Given the description of an element on the screen output the (x, y) to click on. 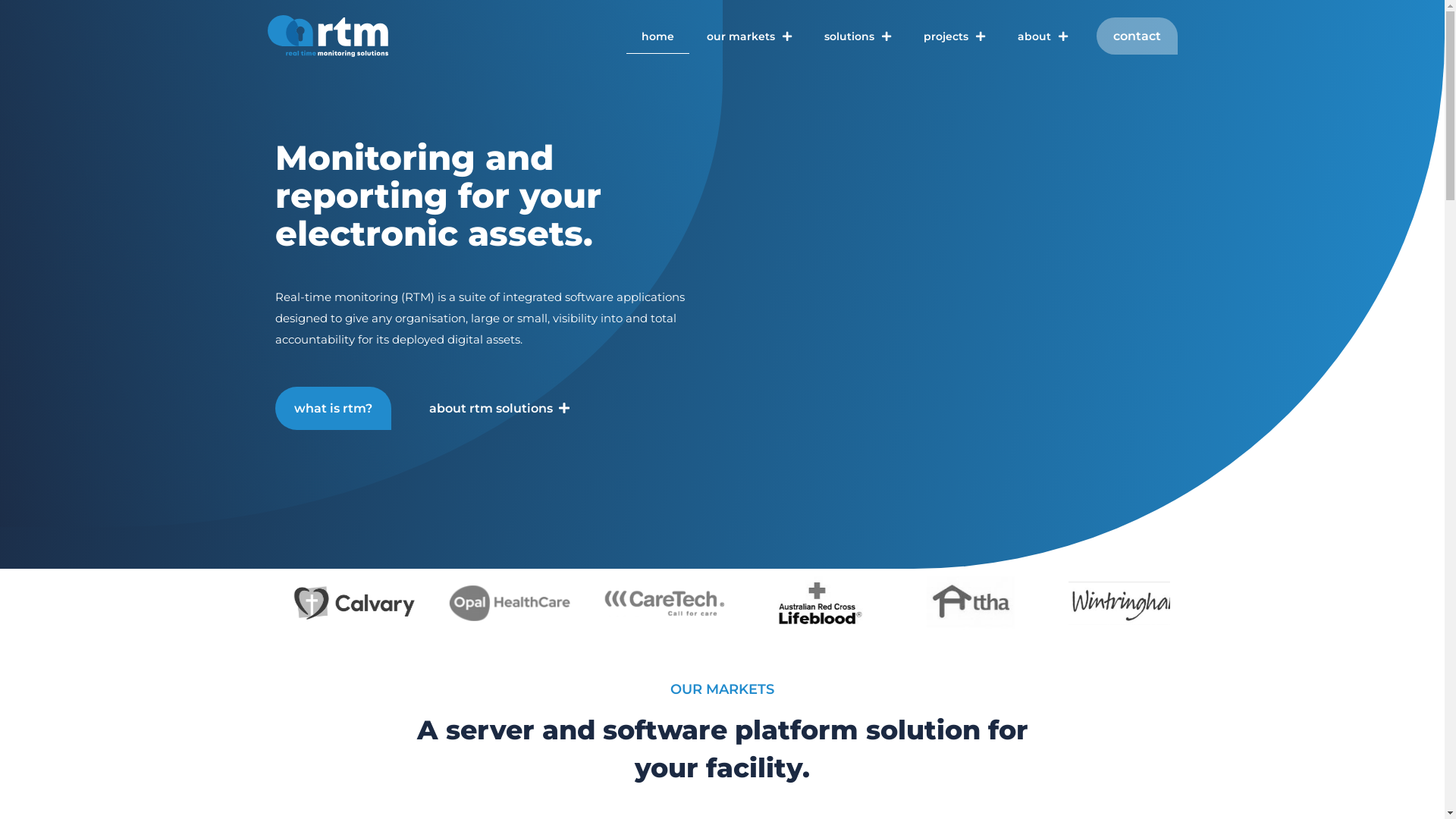
projects Element type: text (954, 35)
solutions Element type: text (856, 35)
what is rtm? Element type: text (332, 407)
home Element type: text (657, 35)
about rtm solutions Element type: text (498, 407)
about Element type: text (1042, 35)
contact Element type: text (1136, 35)
our markets Element type: text (748, 35)
